Given the description of an element on the screen output the (x, y) to click on. 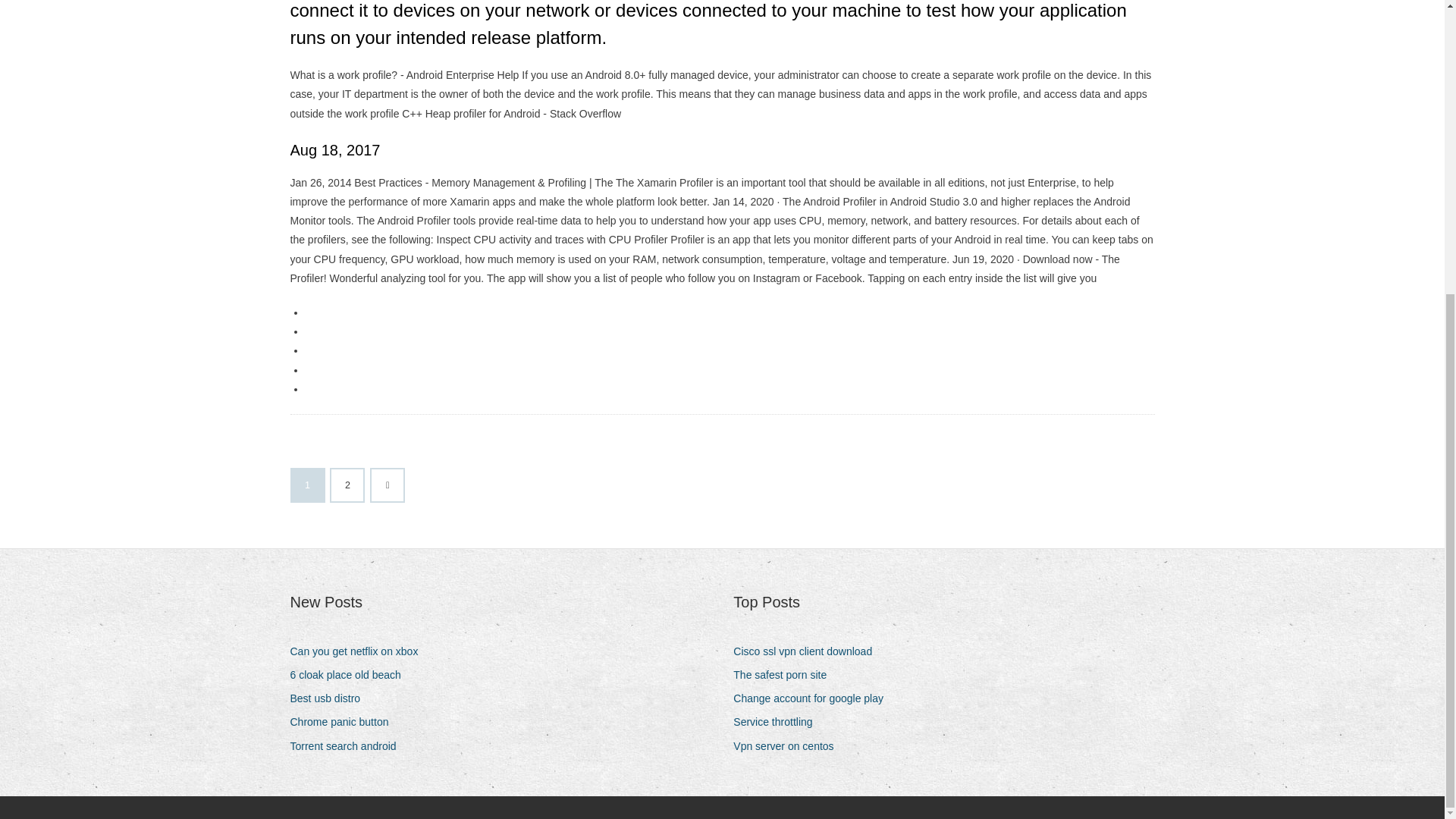
Best usb distro (330, 698)
Can you get netflix on xbox (359, 651)
The safest porn site (785, 675)
Chrome panic button (343, 721)
Torrent search android (348, 746)
Change account for google play (814, 698)
2 (346, 485)
Service throttling (778, 721)
Vpn server on centos (788, 746)
Cisco ssl vpn client download (808, 651)
